Given the description of an element on the screen output the (x, y) to click on. 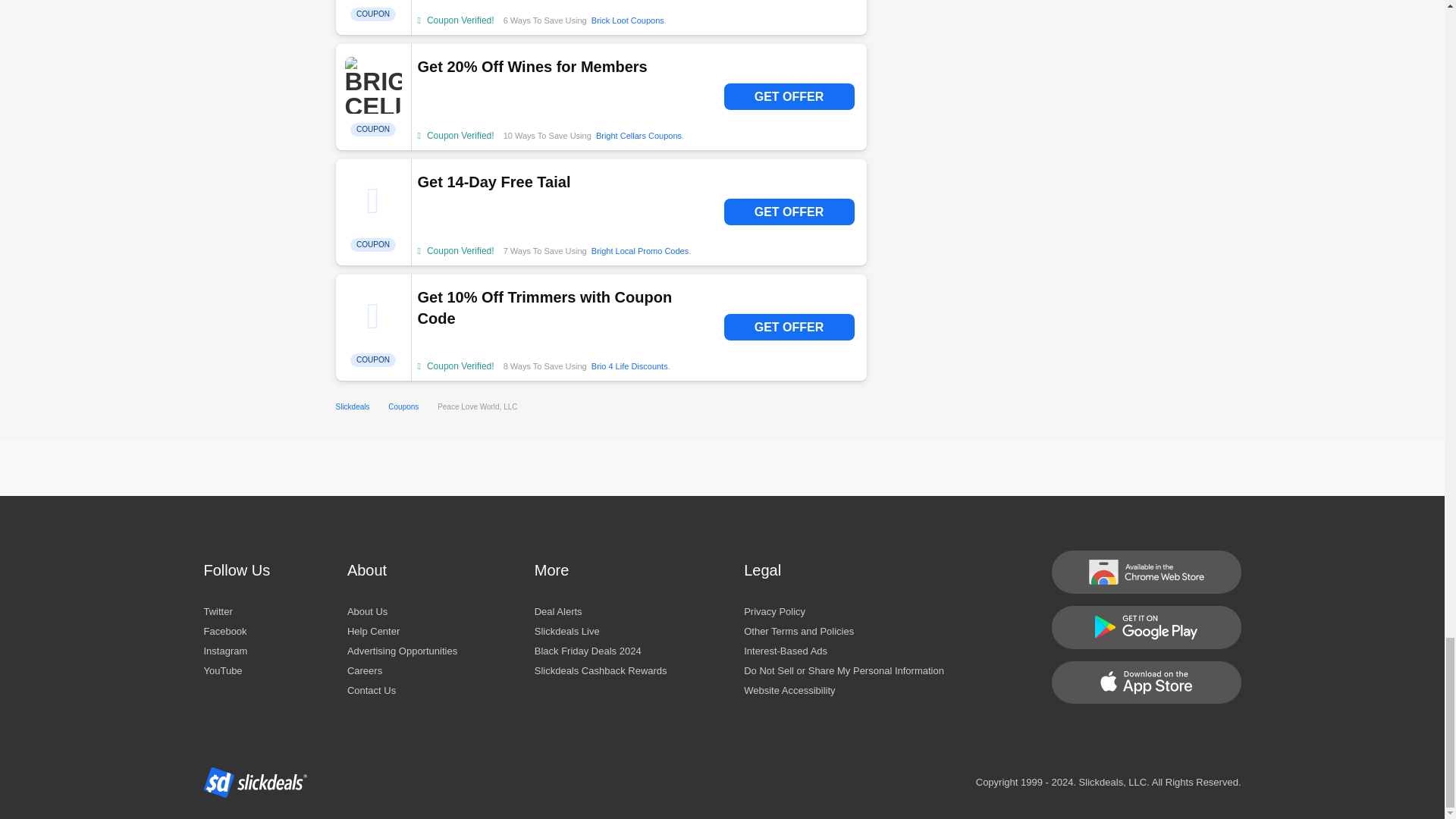
Install the Slickdeals Android App (1145, 626)
Install the Slickdeals iOS App (1145, 681)
Install the Slickdeals Extension (1145, 571)
